Given the description of an element on the screen output the (x, y) to click on. 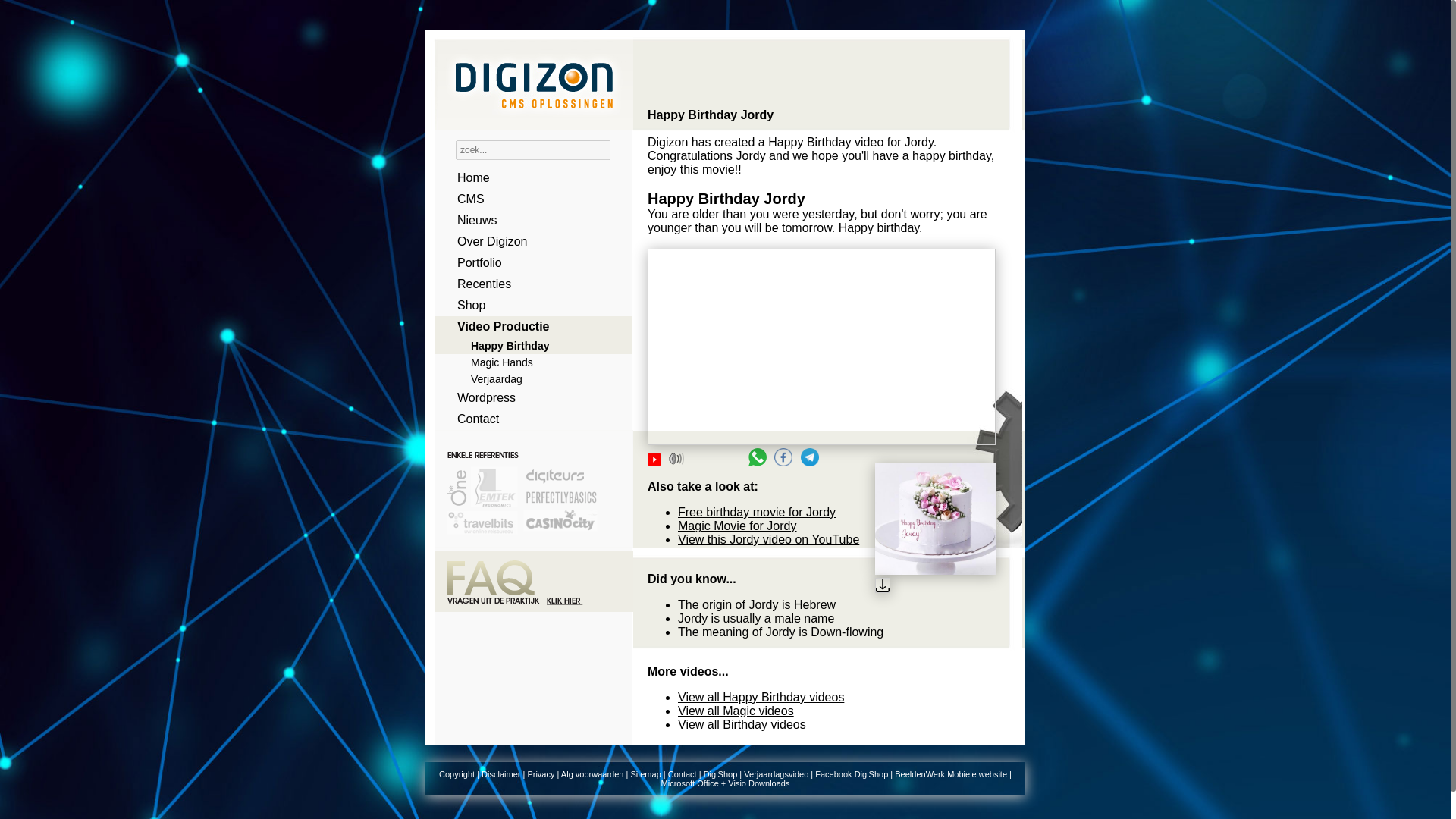
Facebook DigiShop (851, 773)
Privacy (540, 773)
Video Productie (528, 326)
BeeldenWerk Mobiele website (951, 773)
Alg voorwaarden (592, 773)
View all Birthday videos (742, 724)
BeeldenWerk Mobiele website (951, 773)
Sitemap (645, 773)
Download (935, 587)
Recenties (528, 283)
